Given the description of an element on the screen output the (x, y) to click on. 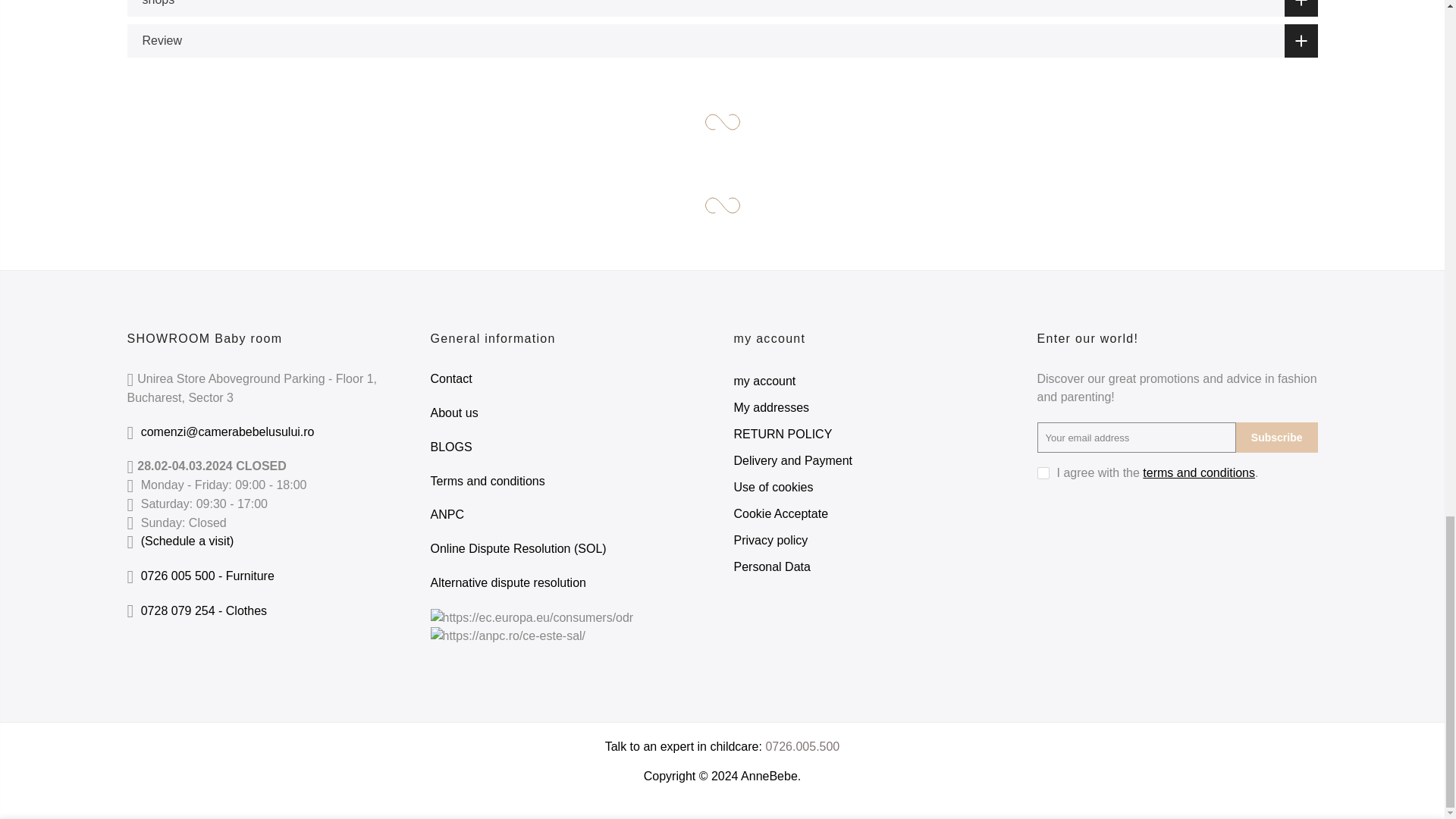
Baby Room Terms and Conditions (487, 481)
Online dispute resolution (518, 548)
shops (722, 8)
